Given the description of an element on the screen output the (x, y) to click on. 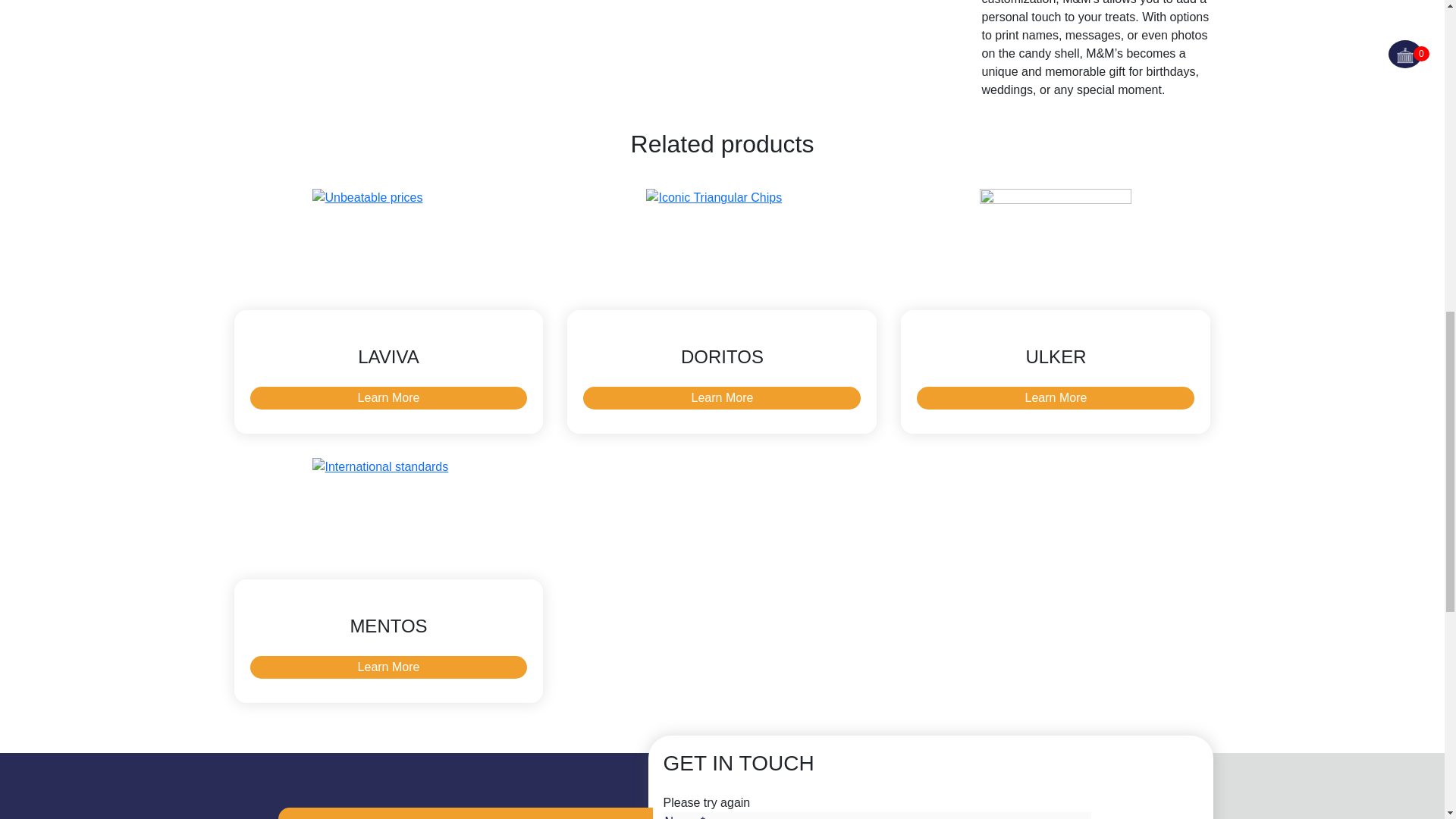
Learn More (388, 667)
Learn More (721, 397)
Learn More (1055, 397)
Learn More (388, 397)
